Given the description of an element on the screen output the (x, y) to click on. 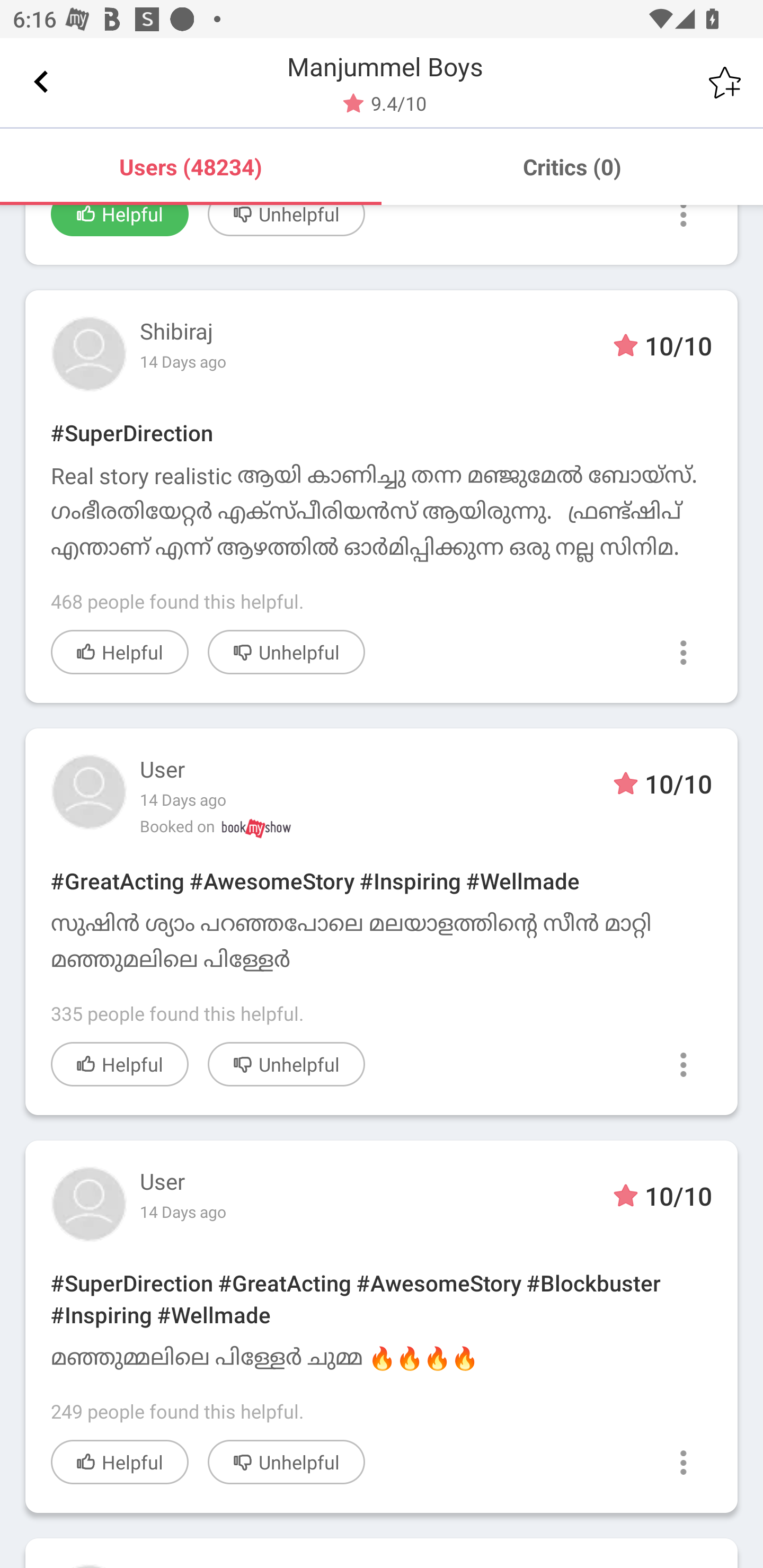
Back (41, 82)
Critics (0) (572, 166)
Helpful (119, 220)
Unhelpful (285, 220)
Helpful (119, 652)
Unhelpful (285, 652)
Helpful (119, 1064)
Unhelpful (285, 1064)
Helpful (119, 1461)
Unhelpful (285, 1461)
